Given the description of an element on the screen output the (x, y) to click on. 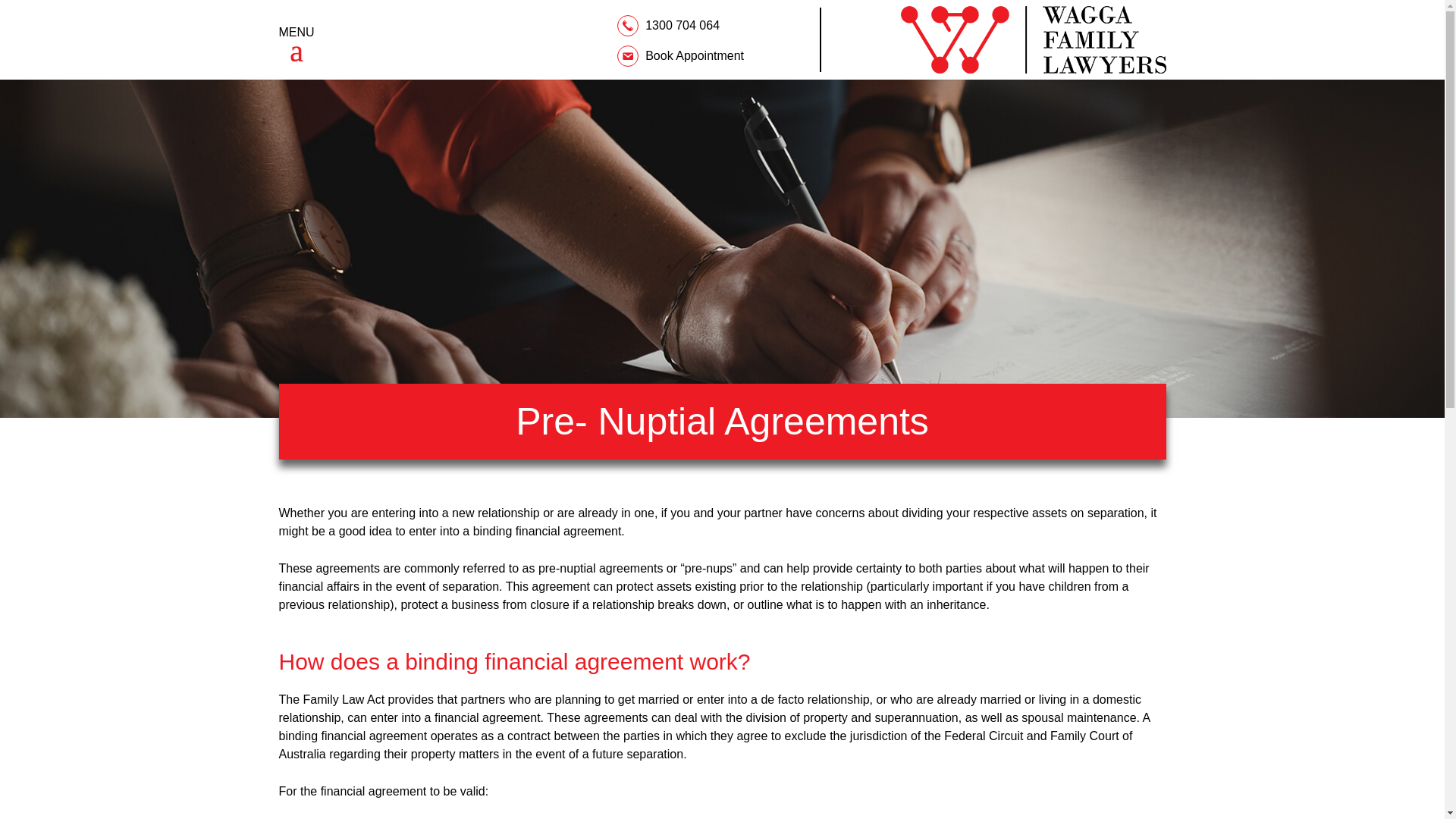
Book Appointment (680, 56)
1300 704 064 (670, 24)
